Given the description of an element on the screen output the (x, y) to click on. 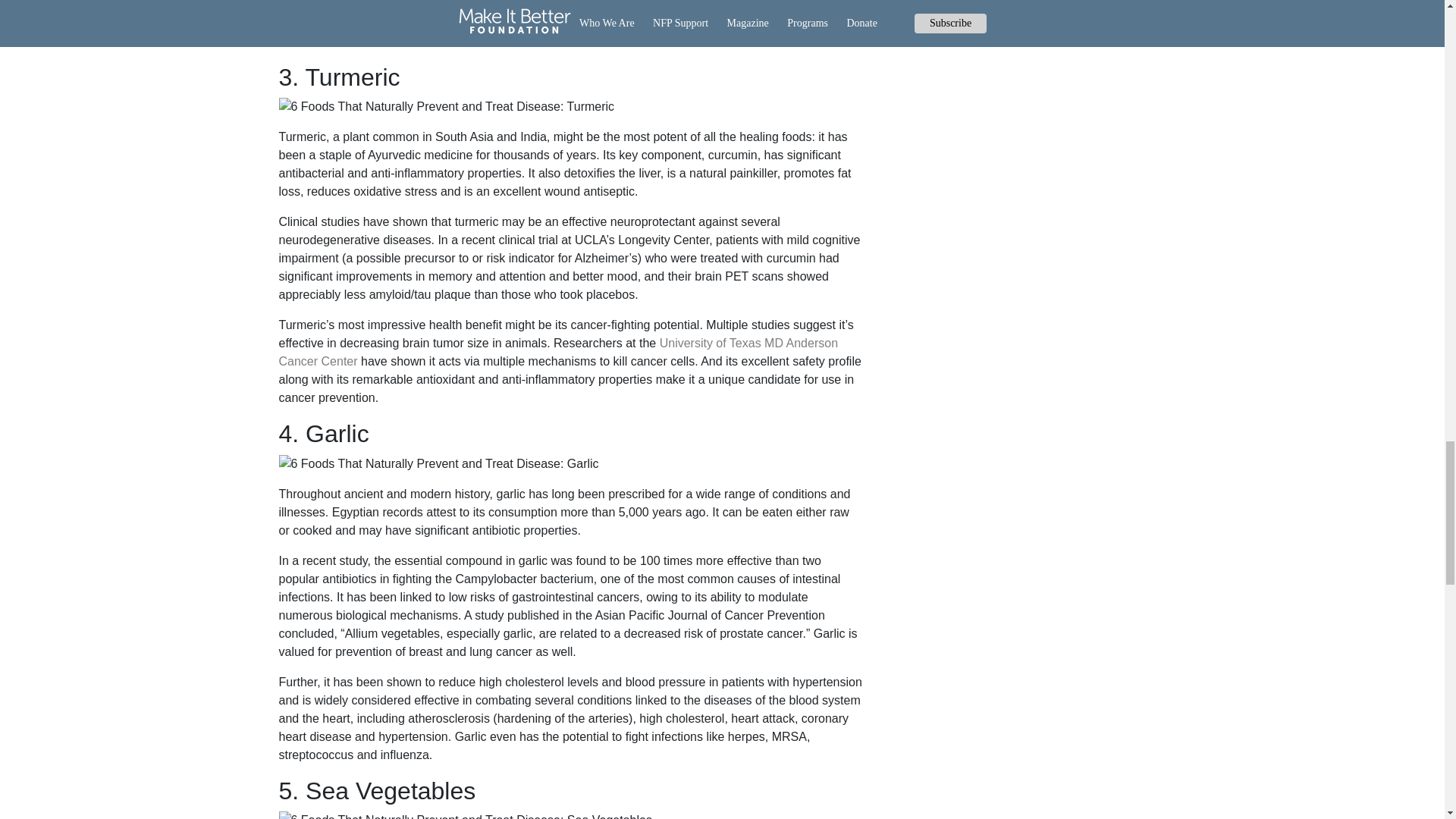
University of Texas MD Anderson Cancer Center  (558, 351)
